Given the description of an element on the screen output the (x, y) to click on. 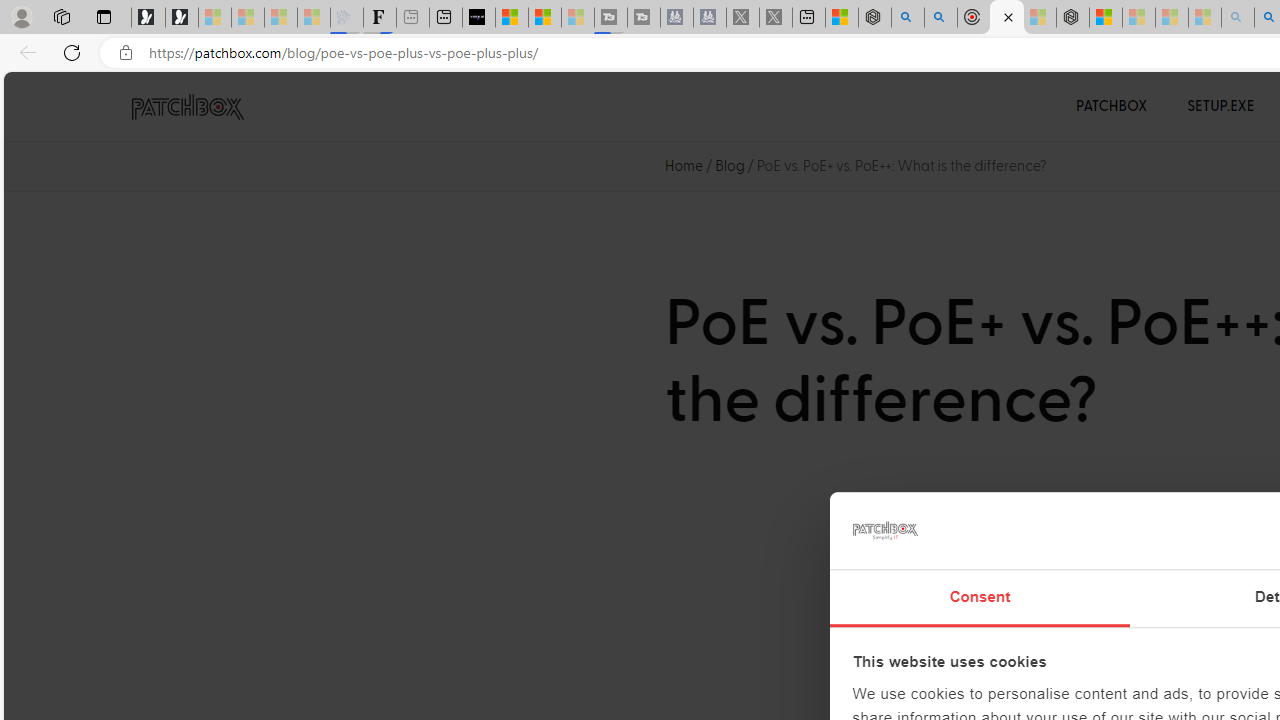
logo (884, 530)
poe ++ standard - Search (941, 17)
Nordace - Nordace Siena Is Not An Ordinary Backpack (1073, 17)
PATCHBOX (1111, 106)
